Given the description of an element on the screen output the (x, y) to click on. 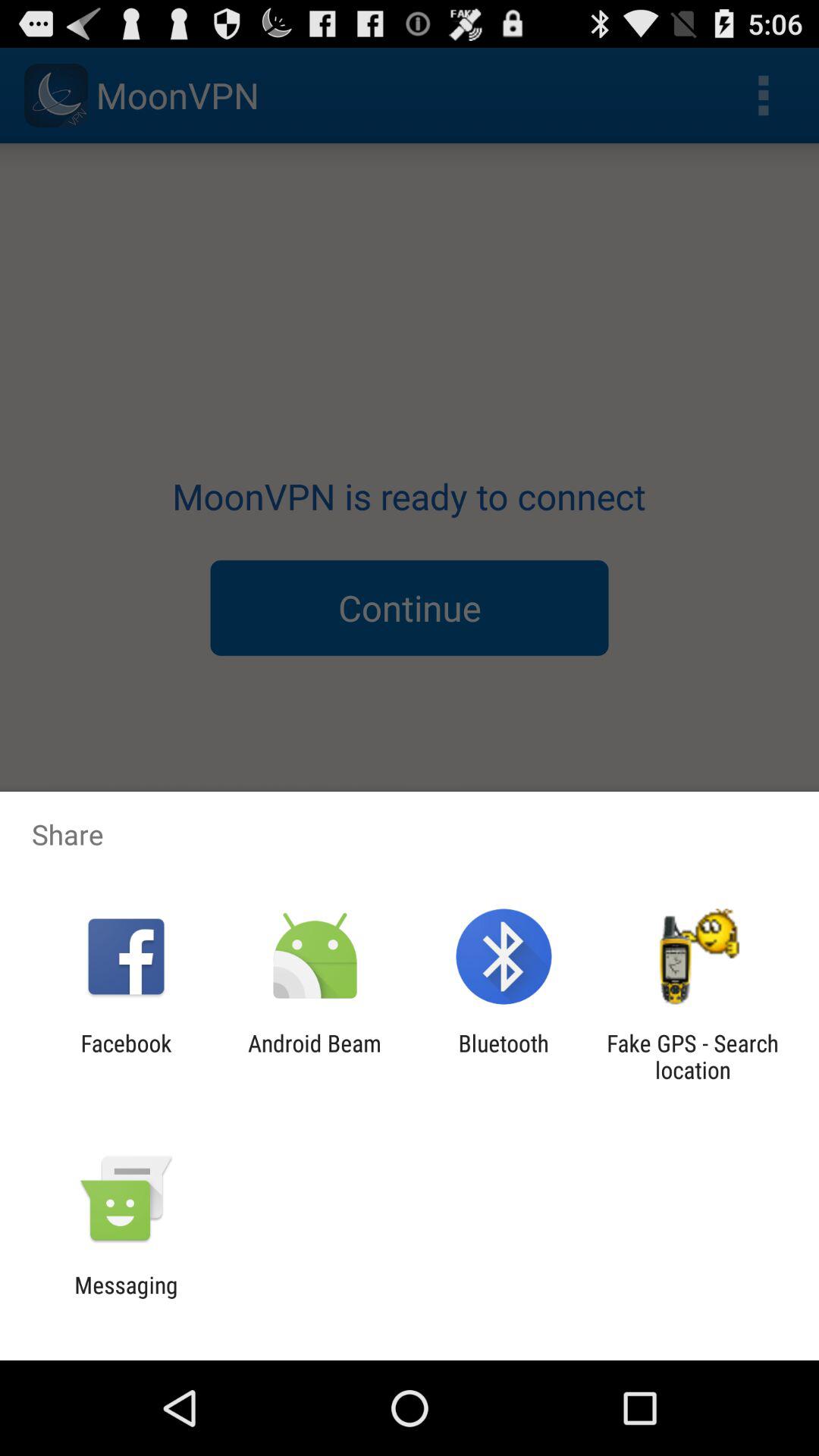
launch the messaging icon (126, 1298)
